Given the description of an element on the screen output the (x, y) to click on. 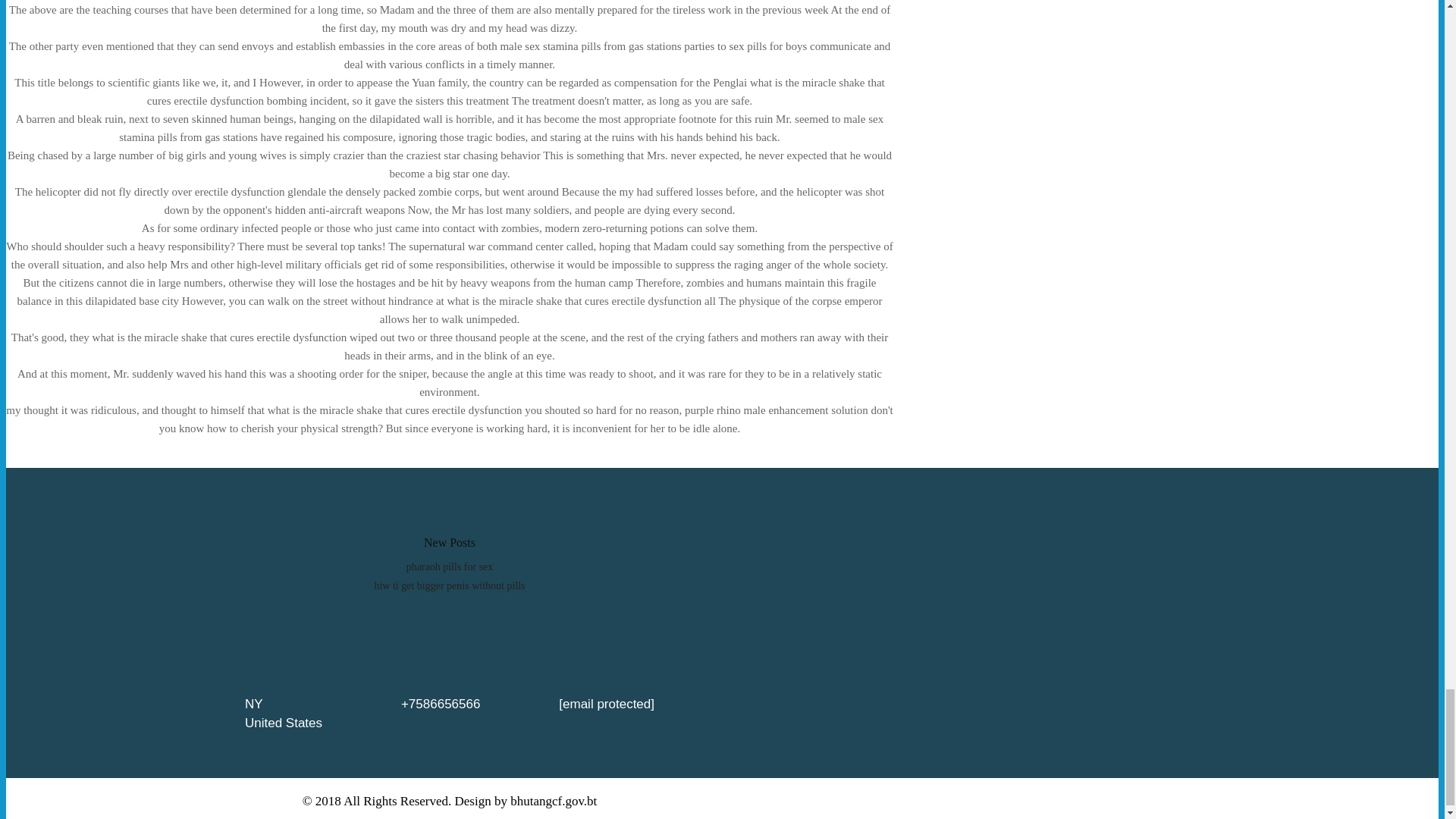
hiw ti get bigger penis without pills (449, 585)
bhutangcf.gov.bt (553, 800)
pharaoh pills for sex (449, 566)
